Given the description of an element on the screen output the (x, y) to click on. 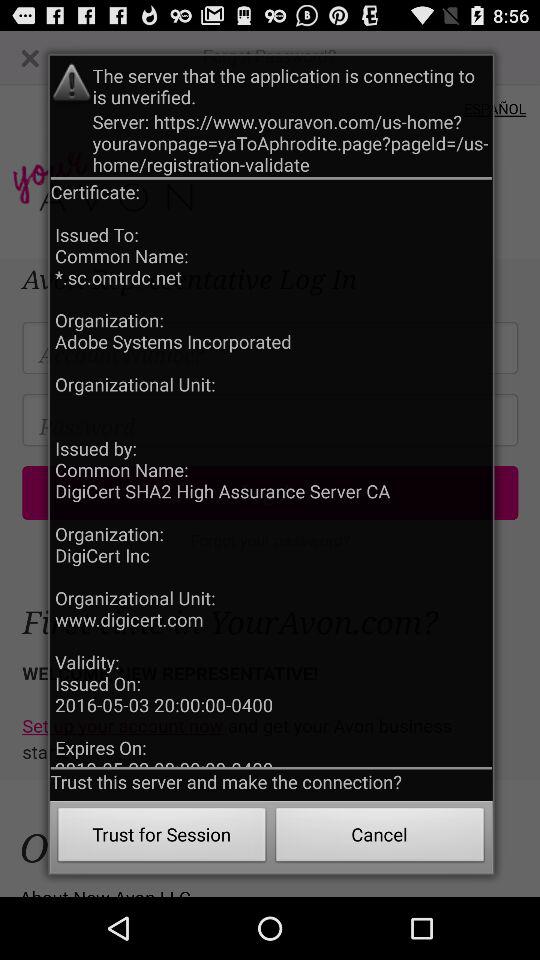
scroll until the trust for session item (162, 837)
